Given the description of an element on the screen output the (x, y) to click on. 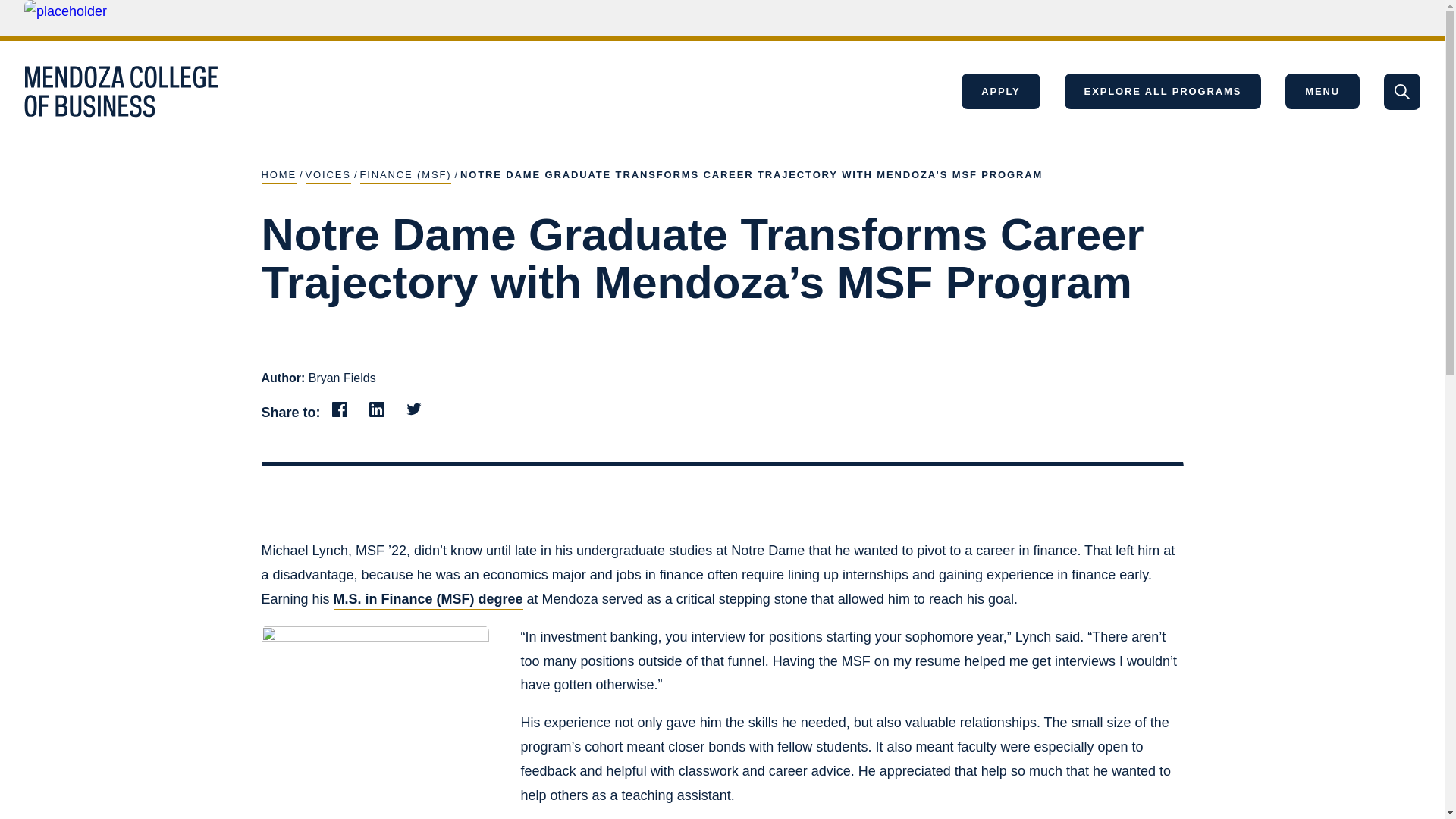
EXPLORE ALL PROGRAMS (1163, 91)
MENU (1322, 91)
APPLY (999, 91)
